Given the description of an element on the screen output the (x, y) to click on. 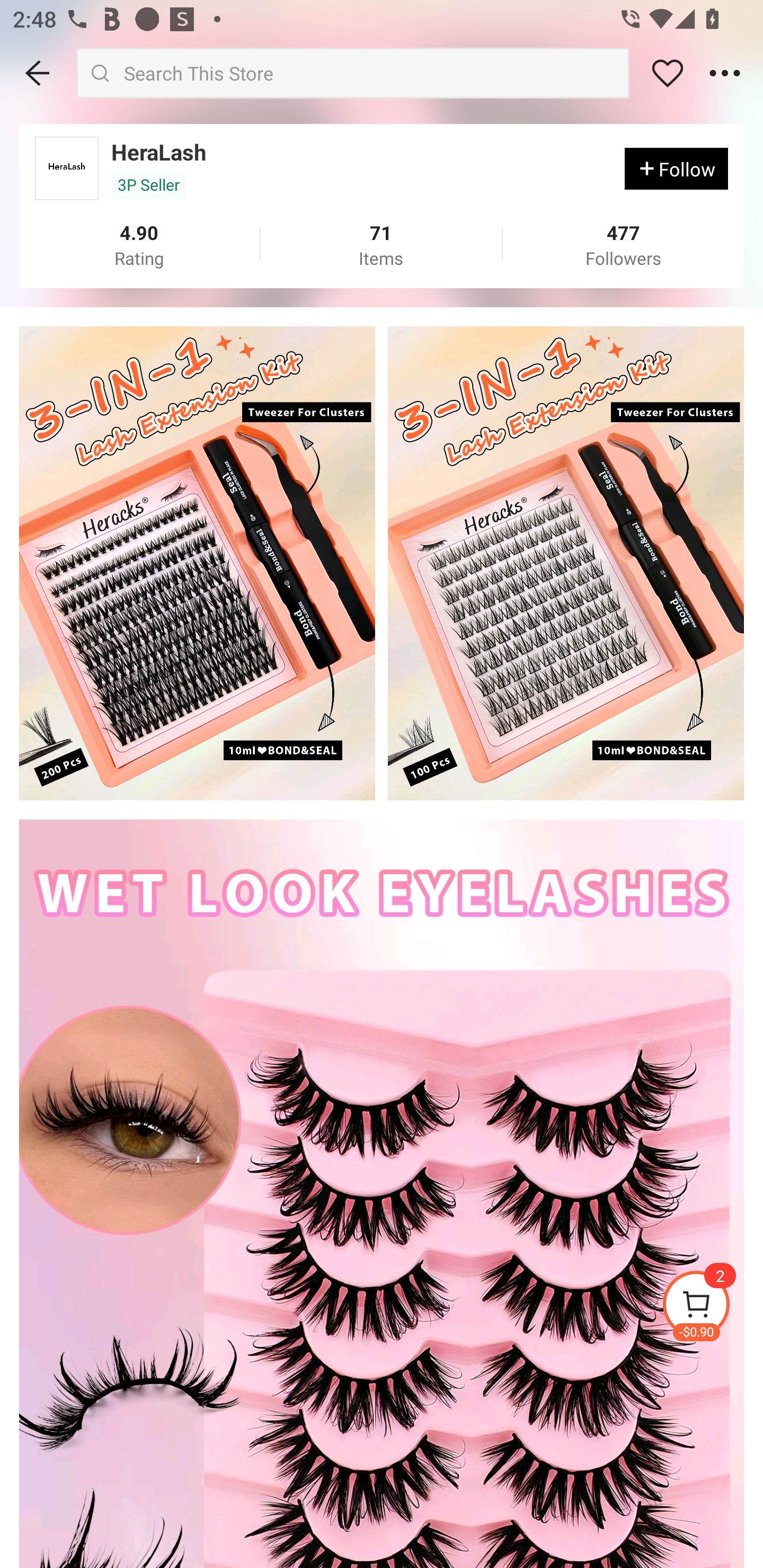
Search This Store (352, 72)
Share (667, 72)
Share (724, 72)
BACK (38, 72)
Follow (675, 168)
4.90 Rating (139, 244)
-$0.90 (712, 1306)
